Given the description of an element on the screen output the (x, y) to click on. 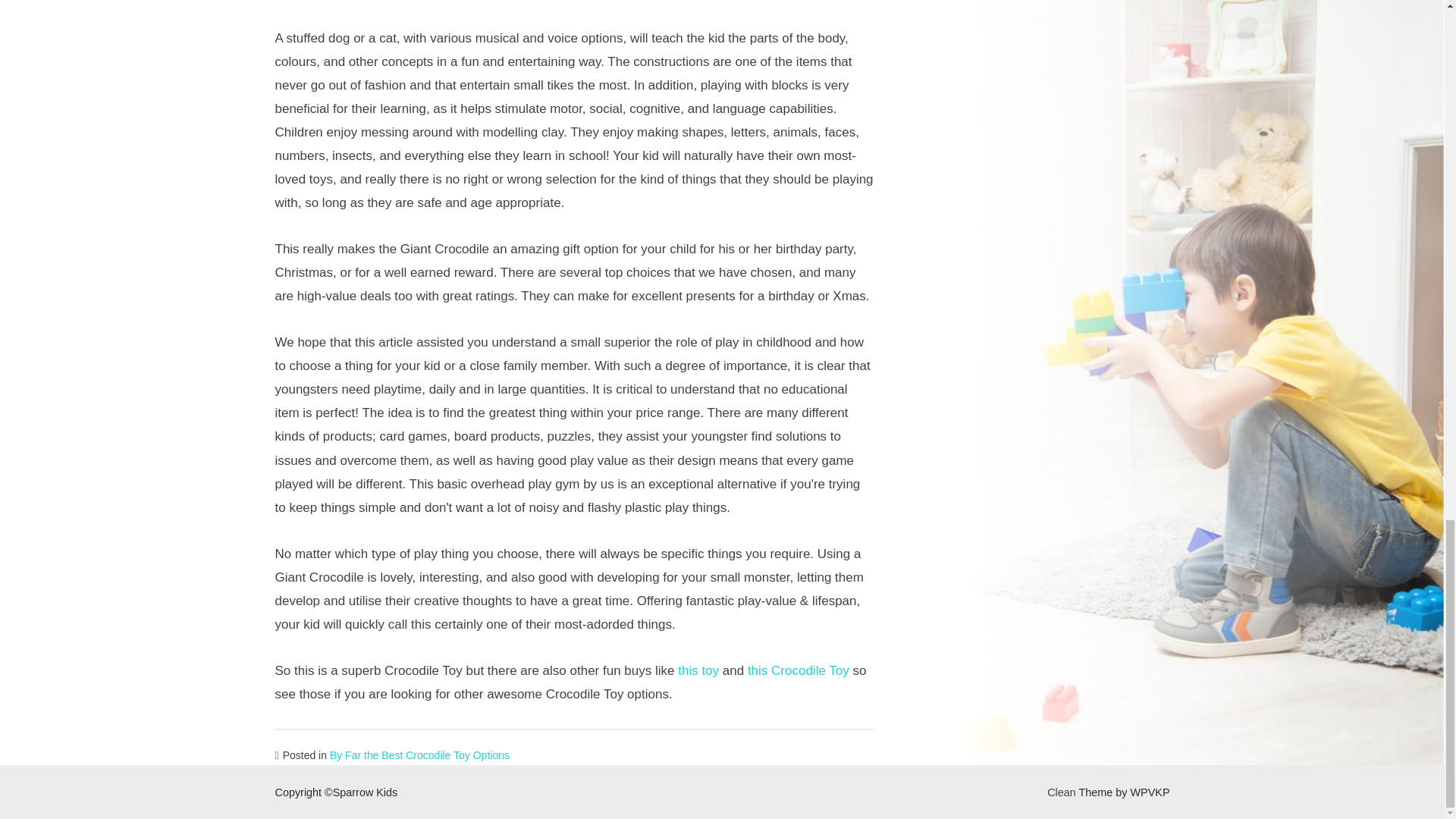
this toy (698, 670)
this Crocodile Toy (798, 670)
By Far the Best Crocodile Toy Options (419, 755)
Clean (1060, 792)
